Given the description of an element on the screen output the (x, y) to click on. 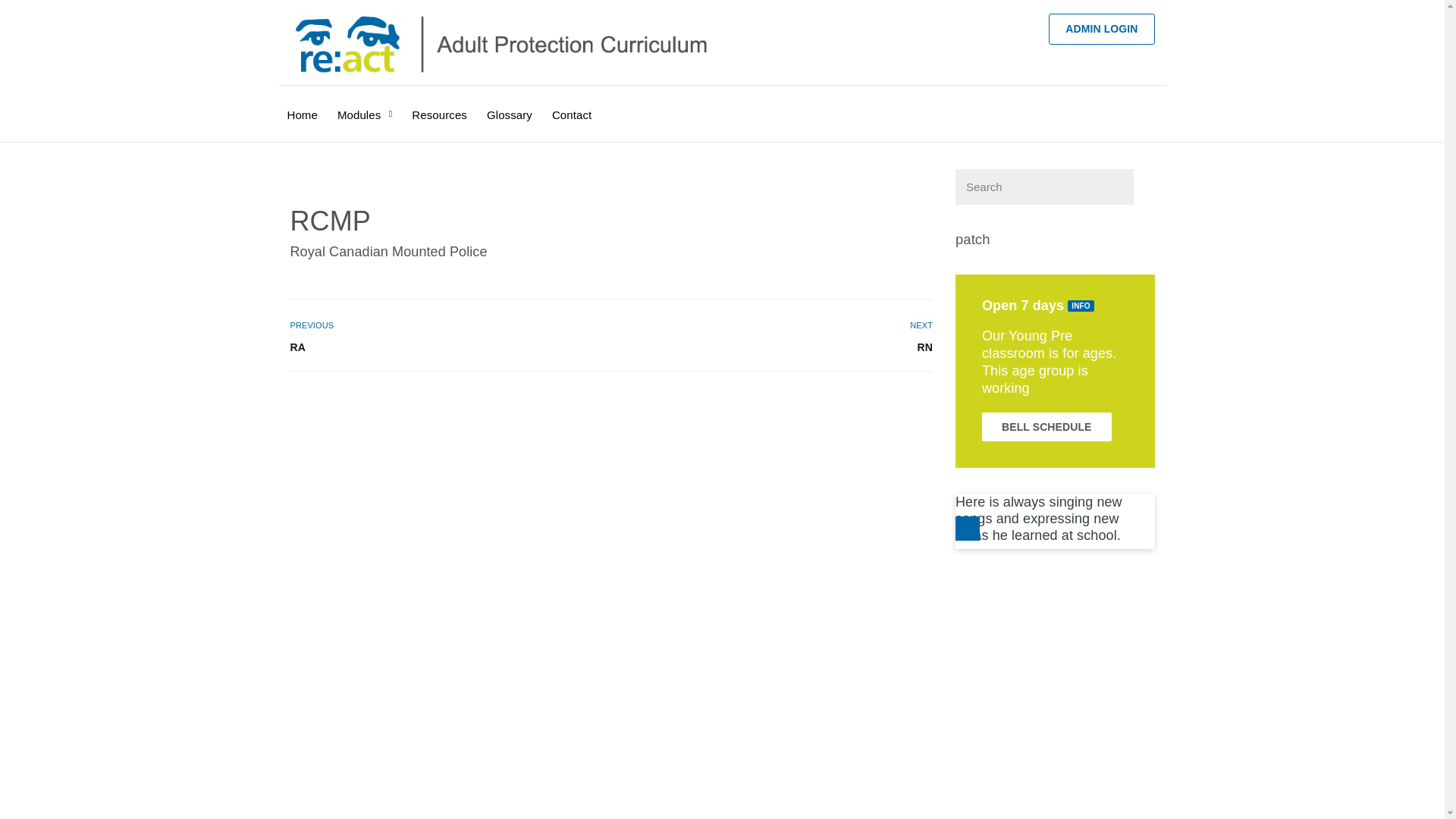
RA Element type: text (442, 347)
Home Element type: text (301, 103)
ADMIN LOGIN Element type: text (1101, 28)
Resources Element type: text (439, 103)
Modules Element type: text (364, 103)
BELL SCHEDULE Element type: text (1046, 426)
RN Element type: text (779, 347)
Contact Element type: text (571, 103)
Glossary Element type: text (509, 103)
